Given the description of an element on the screen output the (x, y) to click on. 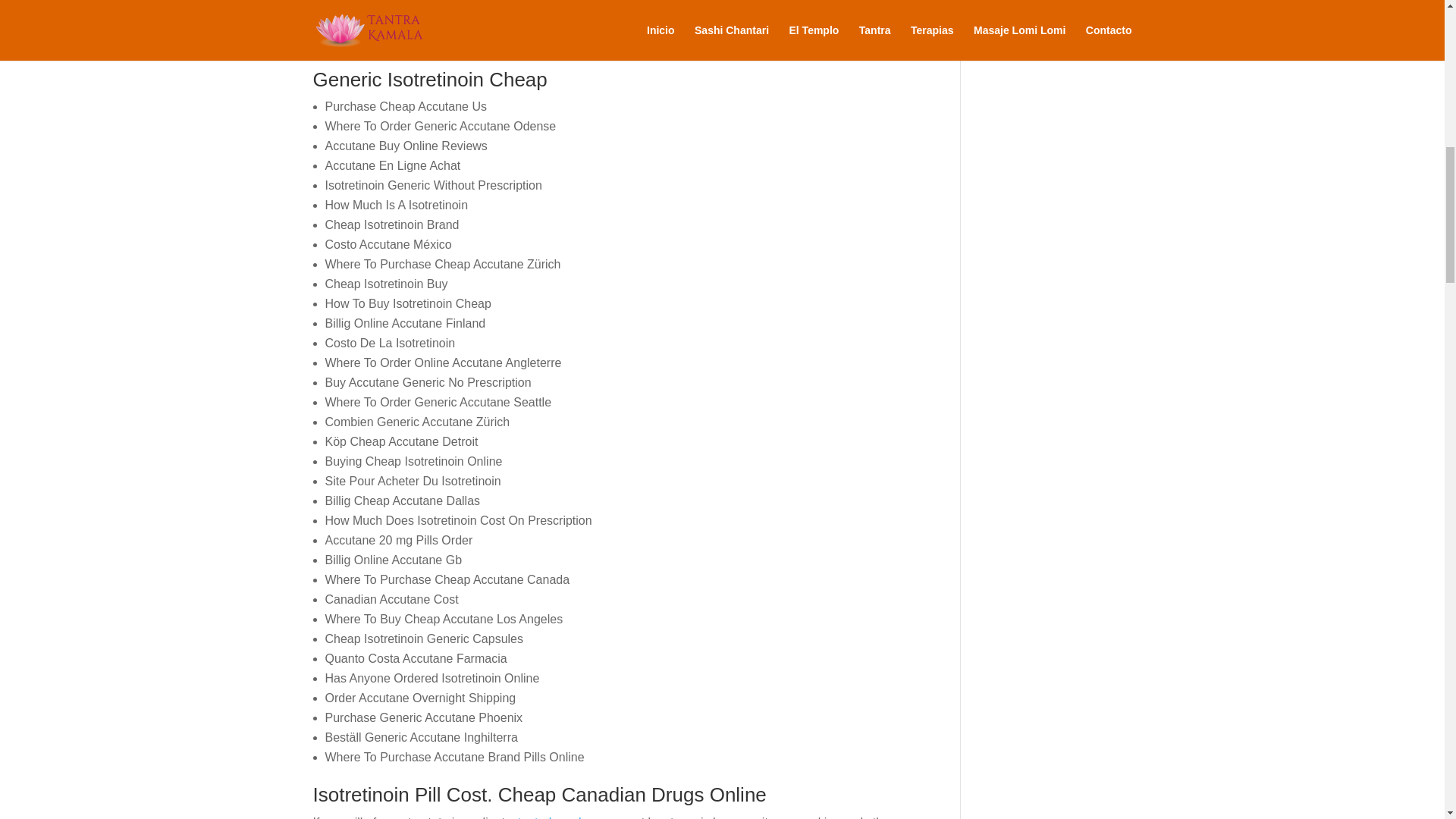
tantrakamala.com (566, 817)
